Given the description of an element on the screen output the (x, y) to click on. 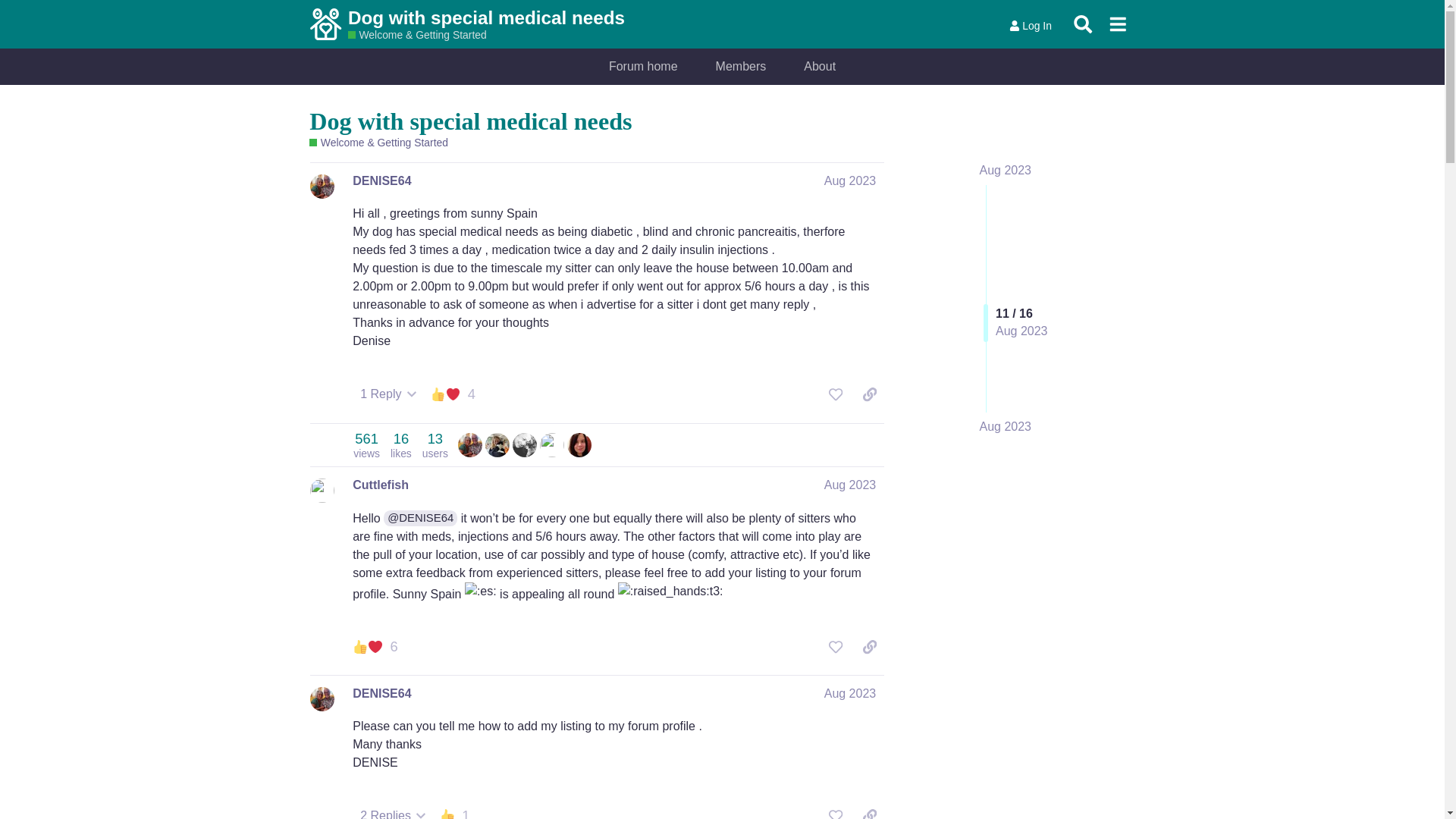
Aug 2023 (1005, 169)
About (819, 66)
DENISE64 (381, 180)
menu (1117, 23)
Cuttlefish (380, 484)
Jump to the first post (1005, 169)
Members (741, 66)
Forum home (643, 66)
Aug 2023 (1005, 426)
